Given the description of an element on the screen output the (x, y) to click on. 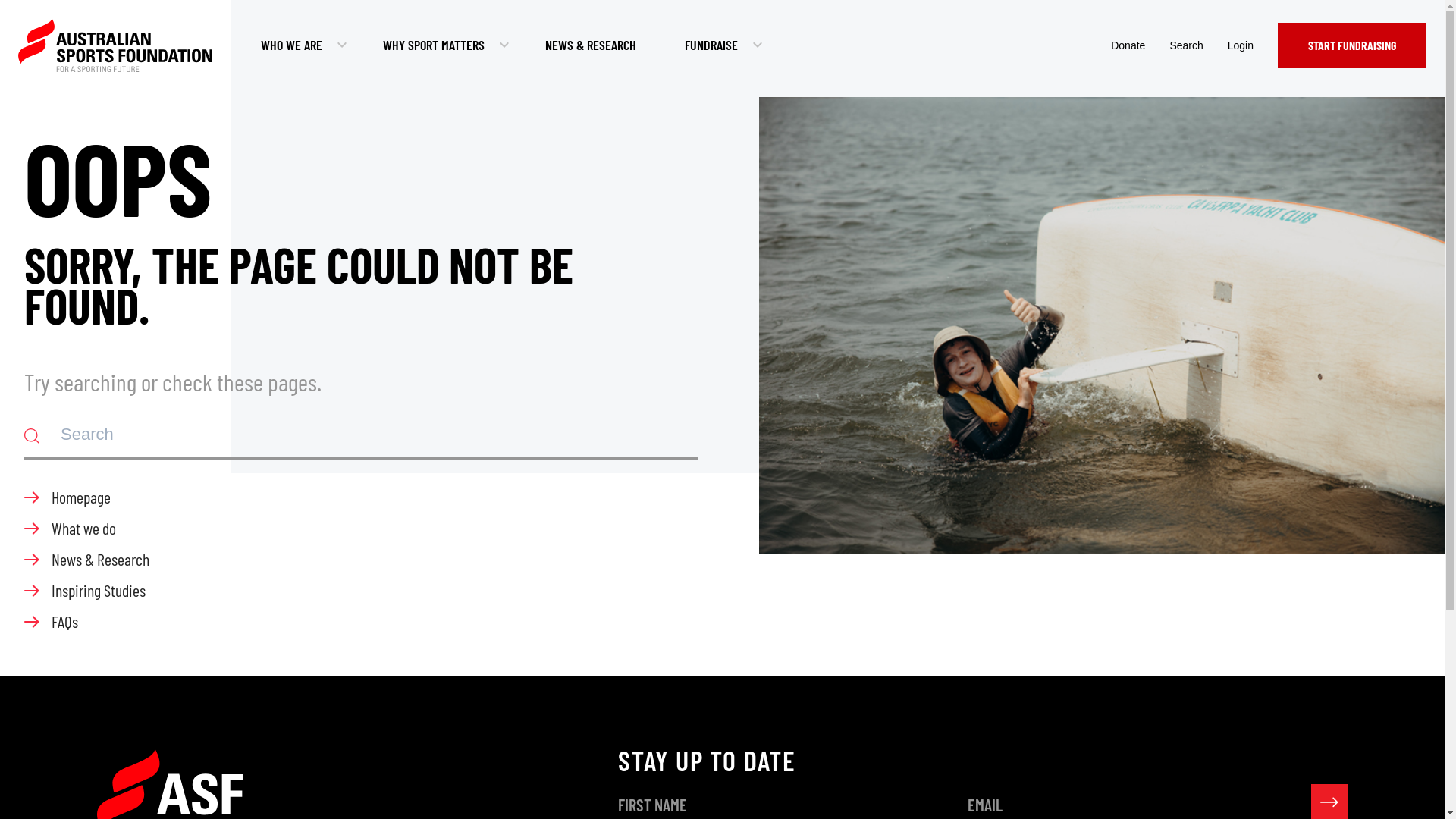
FAQs Element type: text (361, 620)
Search Element type: text (1185, 45)
Homepage Element type: text (361, 496)
Donate Element type: text (1127, 45)
Inspiring Studies Element type: text (361, 589)
START FUNDRAISING Element type: text (1351, 45)
NEWS & RESEARCH Element type: text (590, 44)
What we do Element type: text (361, 527)
Login Element type: text (1240, 45)
News & Research Element type: text (361, 558)
